Given the description of an element on the screen output the (x, y) to click on. 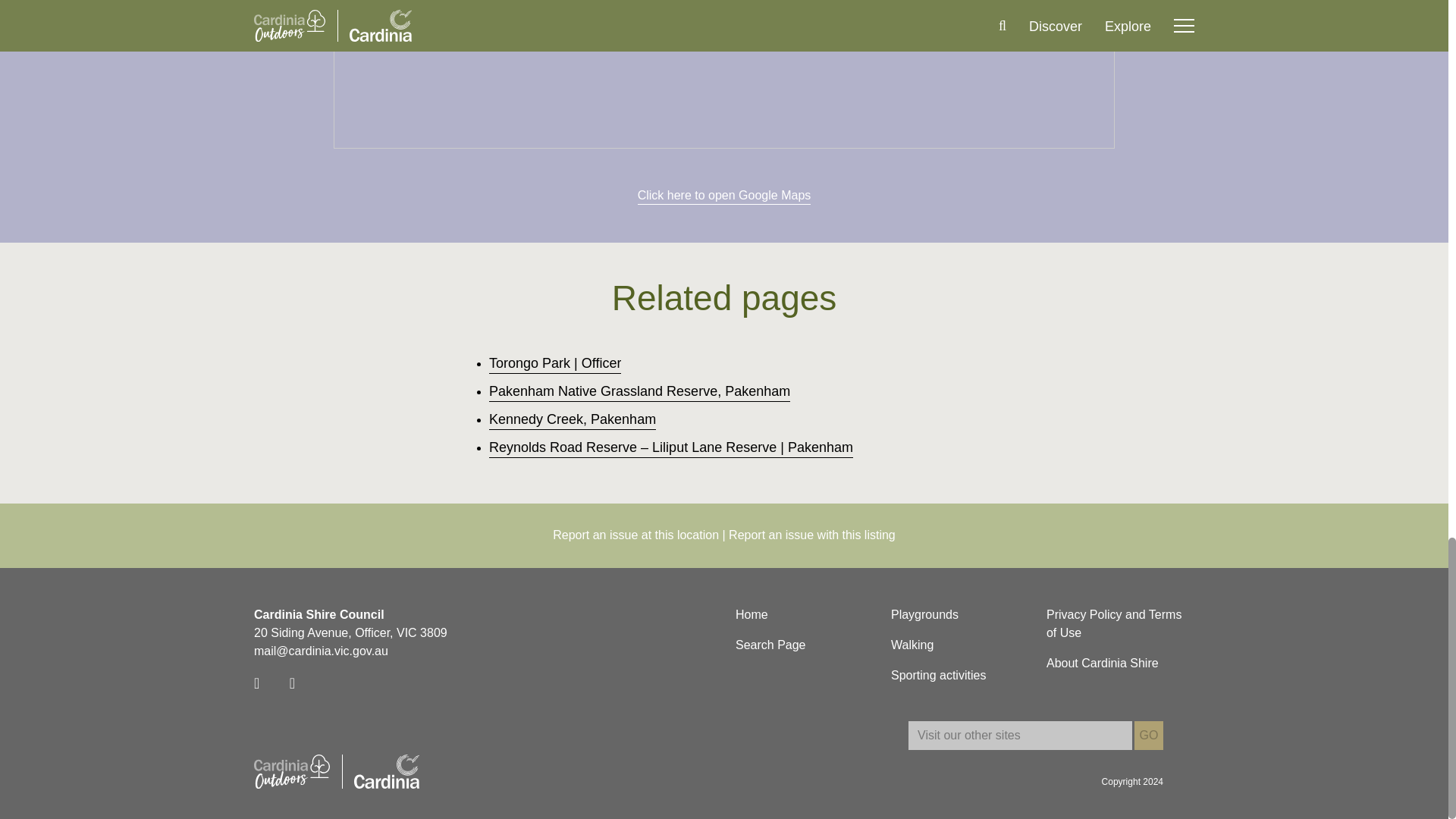
Search Page (770, 645)
Kennedy Creek, Pakenham (572, 419)
Home (751, 615)
Report an issue with this listing (812, 535)
Pakenham Native Grassland Reserve, Pakenham (639, 391)
Playgrounds (924, 615)
Playgrounds (924, 615)
Privacy Policy and Terms of Use (1119, 624)
Home (751, 615)
Kennedy Creek, Pakenham (572, 419)
